Given the description of an element on the screen output the (x, y) to click on. 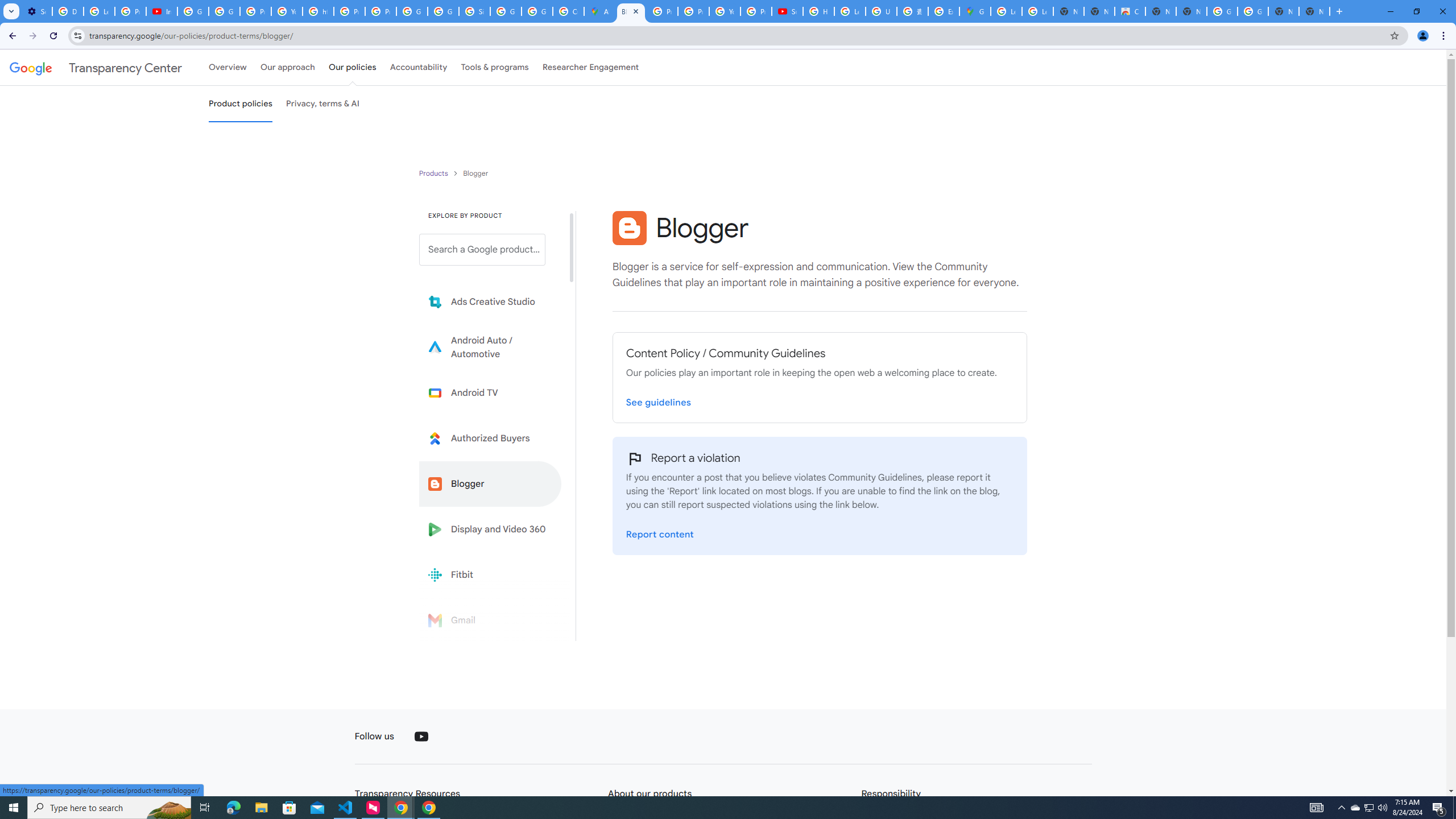
New Tab (1314, 11)
Google Maps (974, 11)
Learn how to find your photos - Google Photos Help (98, 11)
Sign in - Google Accounts (474, 11)
Delete photos & videos - Computer - Google Photos Help (67, 11)
Learn more about Authorized Buyers (490, 438)
Our approach (287, 67)
Chrome Web Store (1129, 11)
Introduction | Google Privacy Policy - YouTube (161, 11)
Google Images (1222, 11)
